Given the description of an element on the screen output the (x, y) to click on. 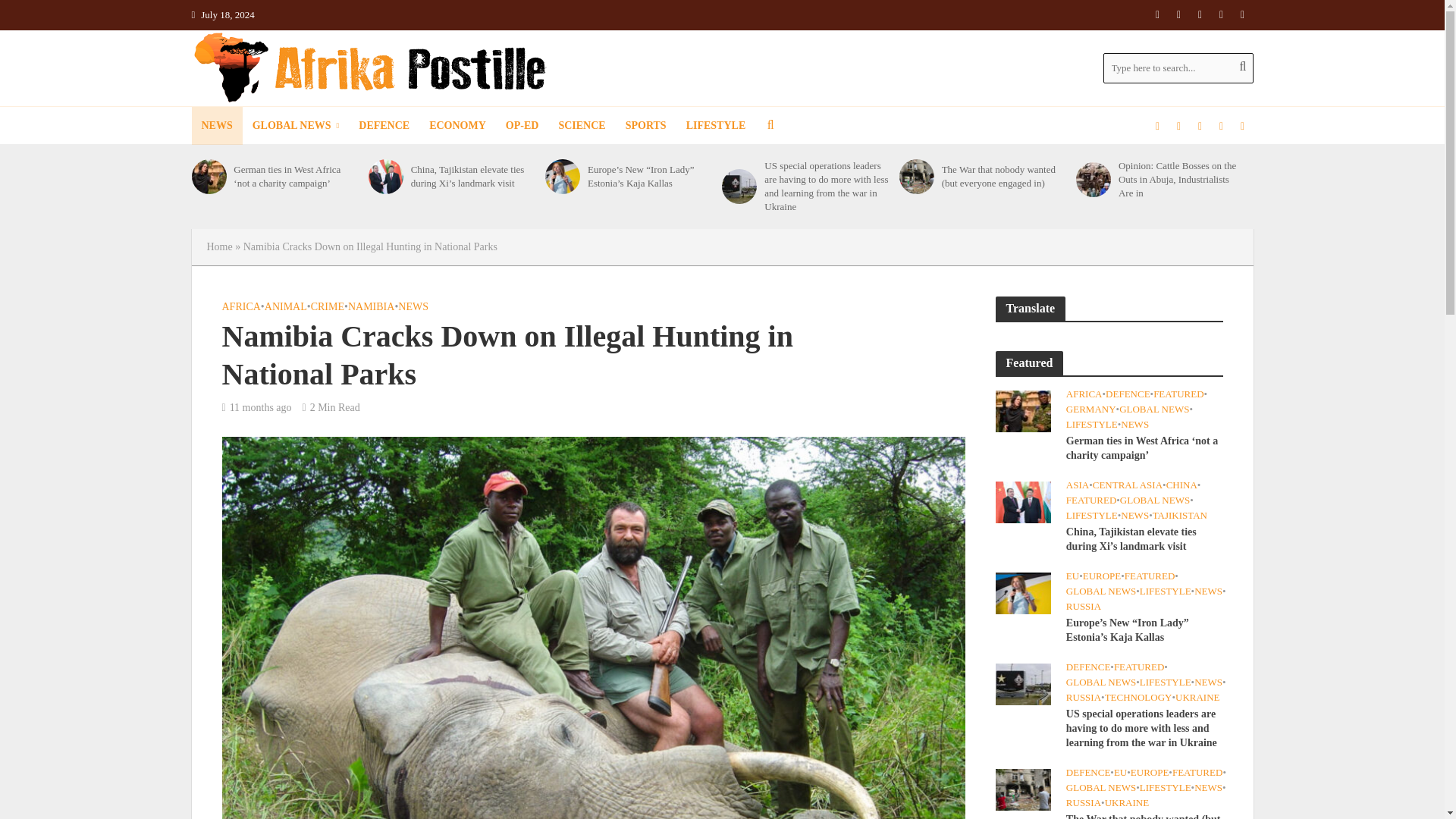
NEWS (215, 125)
GLOBAL NEWS (296, 125)
